Given the description of an element on the screen output the (x, y) to click on. 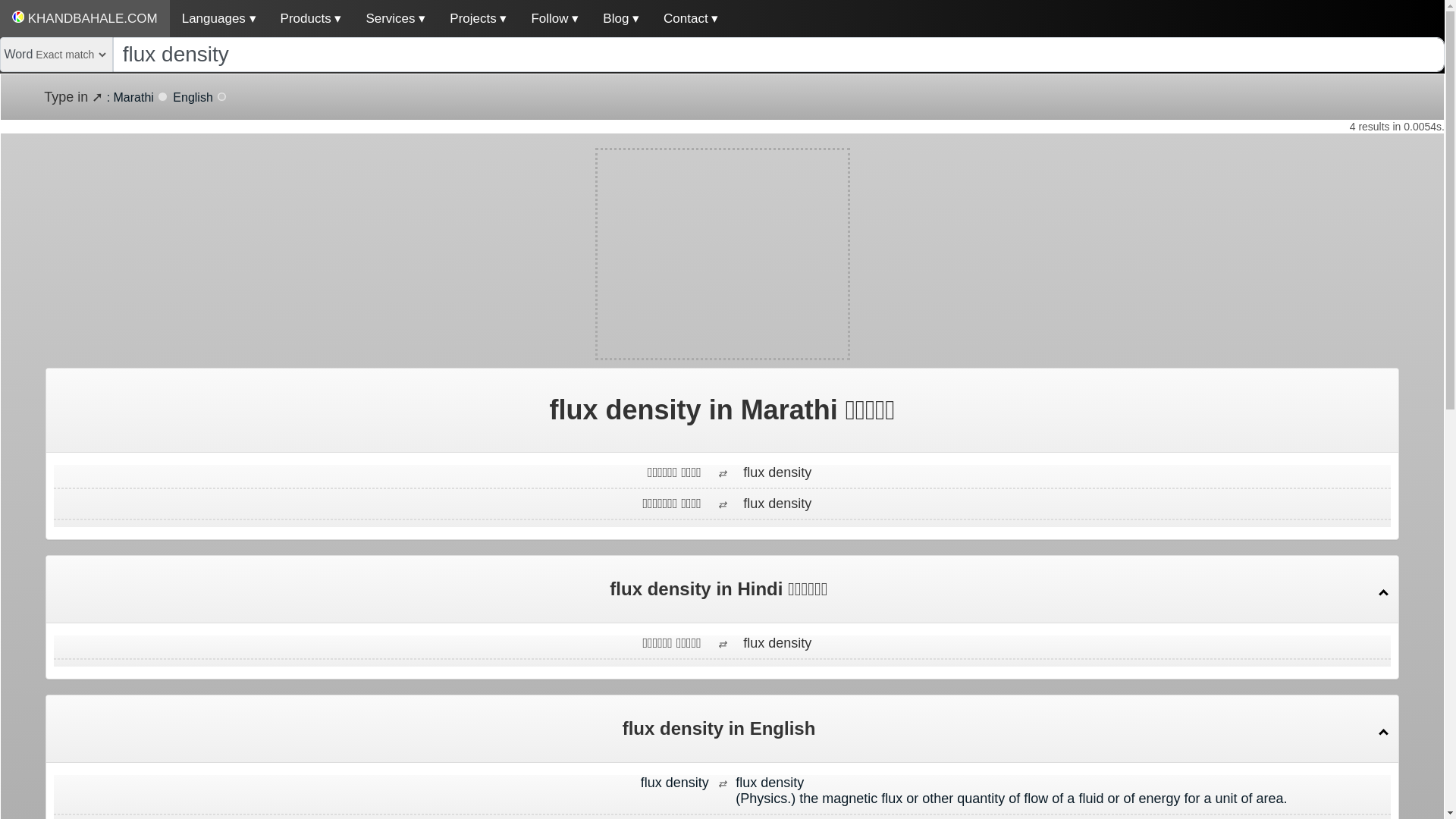
on (162, 96)
Indian Official Languages Dictionary (85, 18)
KHANDBAHALE.COM (85, 18)
on (221, 96)
